Given the description of an element on the screen output the (x, y) to click on. 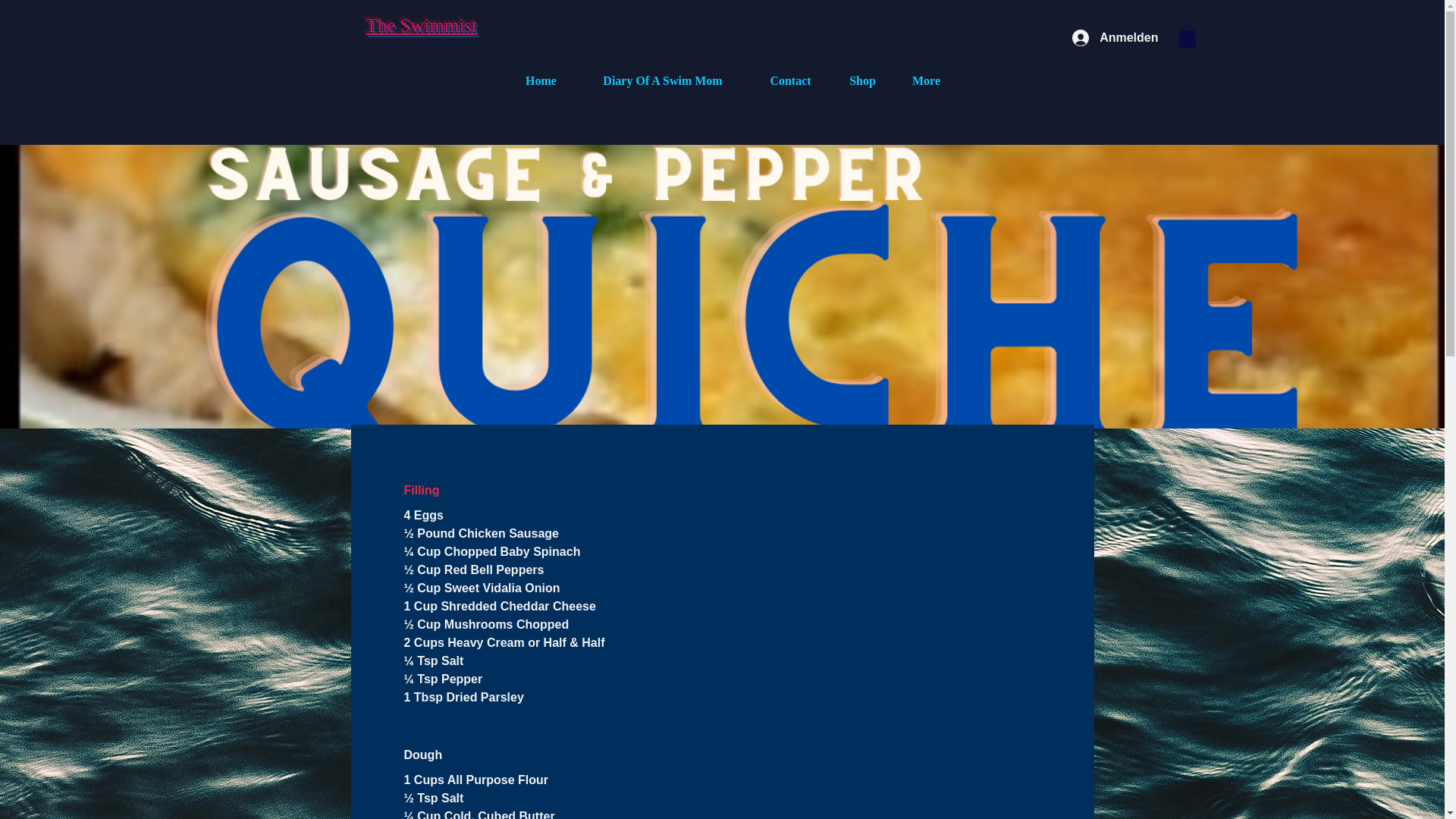
Anmelden (1115, 37)
Shop (862, 80)
Home (541, 80)
The Swimmist (421, 25)
Diary Of A Swim Mom (662, 80)
Contact (790, 80)
